Given the description of an element on the screen output the (x, y) to click on. 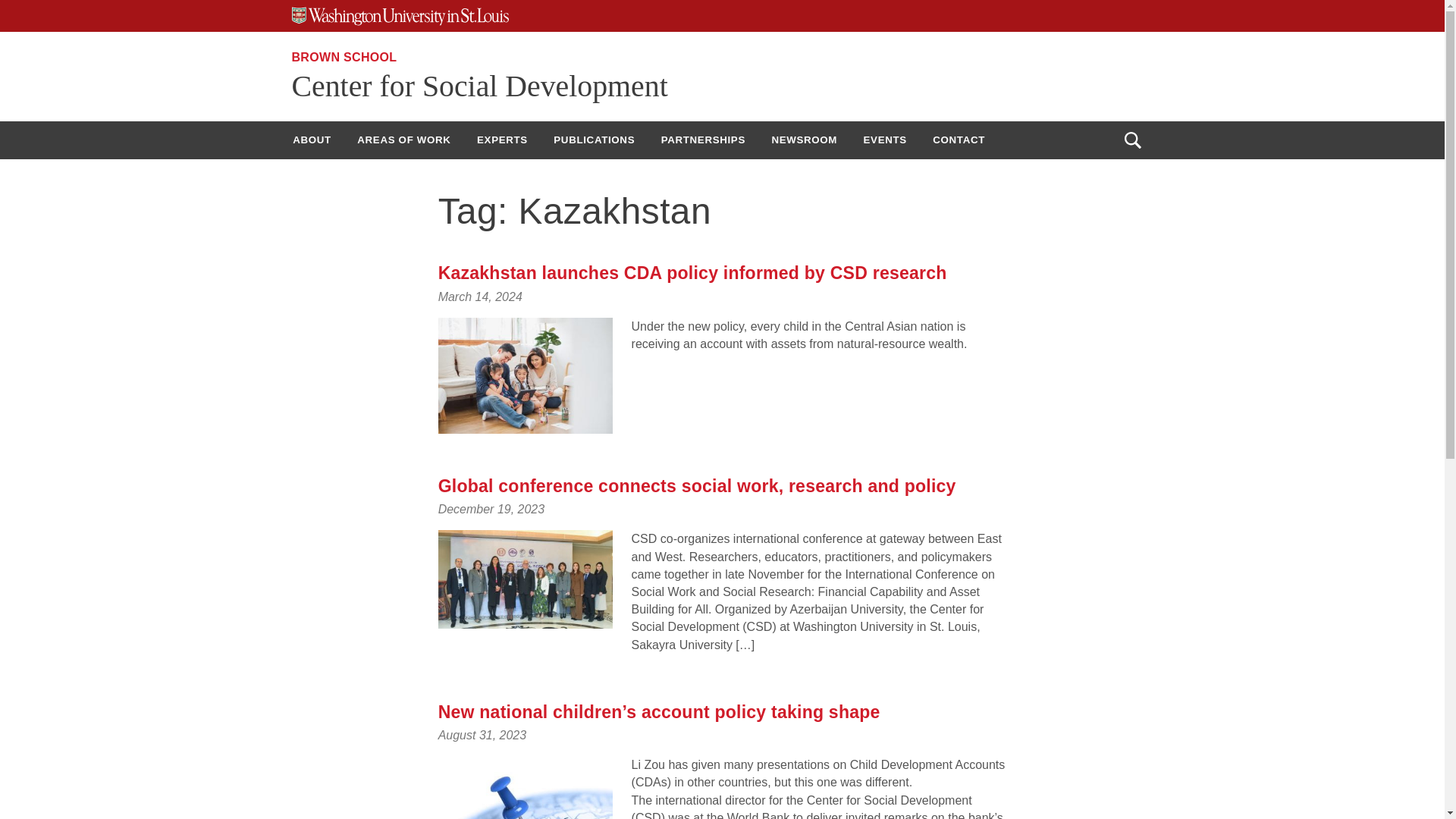
NEWSROOM (804, 139)
AREAS OF WORK (403, 139)
BROWN SCHOOL (343, 56)
EXPERTS (501, 139)
ABOUT (311, 139)
Open Search (1132, 140)
PARTNERSHIPS (703, 139)
CONTACT (958, 139)
PUBLICATIONS (593, 139)
EVENTS (884, 139)
Center for Social Development (478, 86)
